Given the description of an element on the screen output the (x, y) to click on. 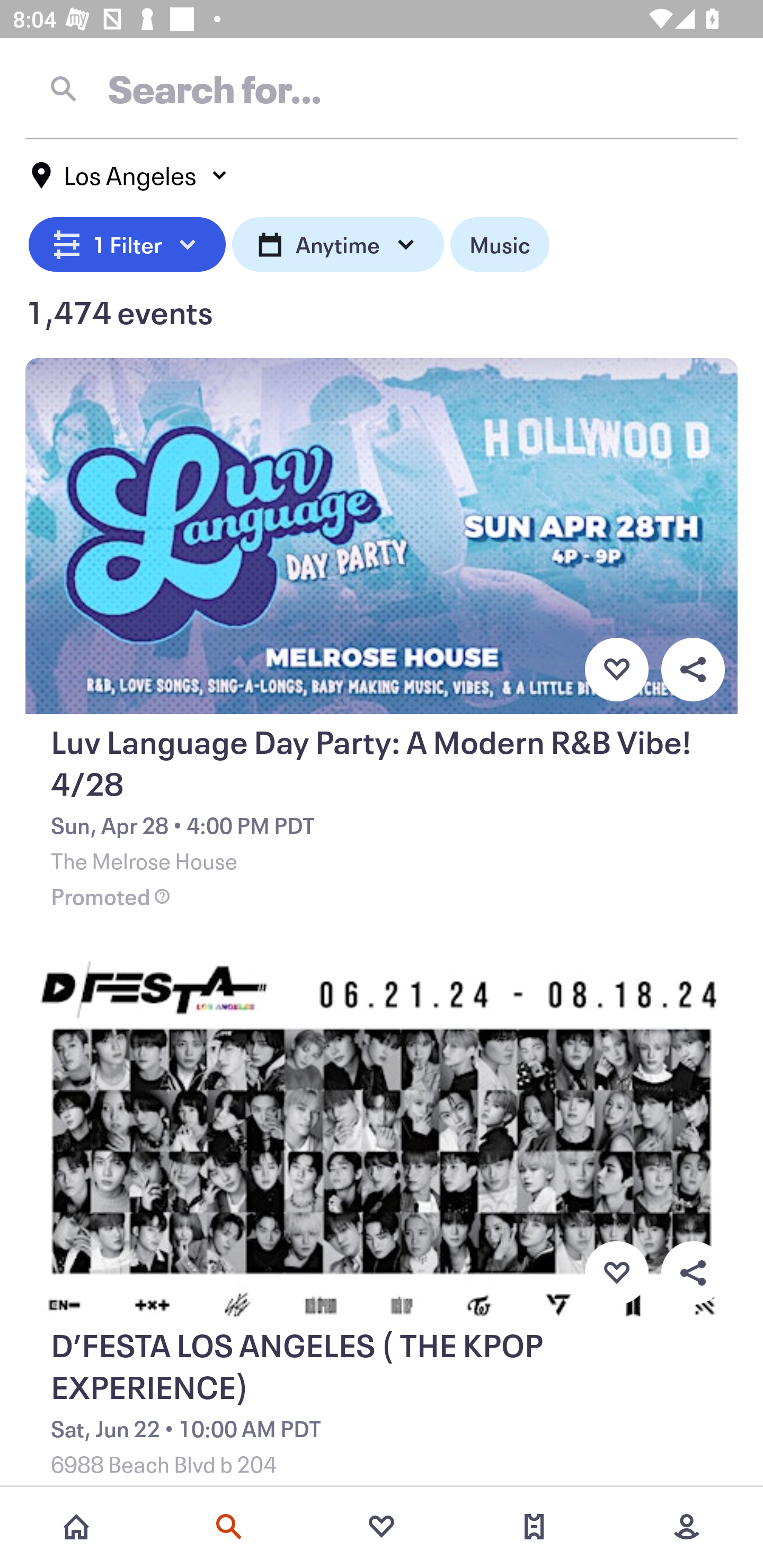
Search for… (381, 88)
Los Angeles (130, 175)
1 Filter (126, 241)
Anytime (337, 241)
Music (499, 241)
Favorite button (616, 669)
Overflow menu button (692, 669)
Favorite button (616, 1272)
Overflow menu button (692, 1272)
Home (76, 1526)
Search events (228, 1526)
Favorites (381, 1526)
Tickets (533, 1526)
More (686, 1526)
